Given the description of an element on the screen output the (x, y) to click on. 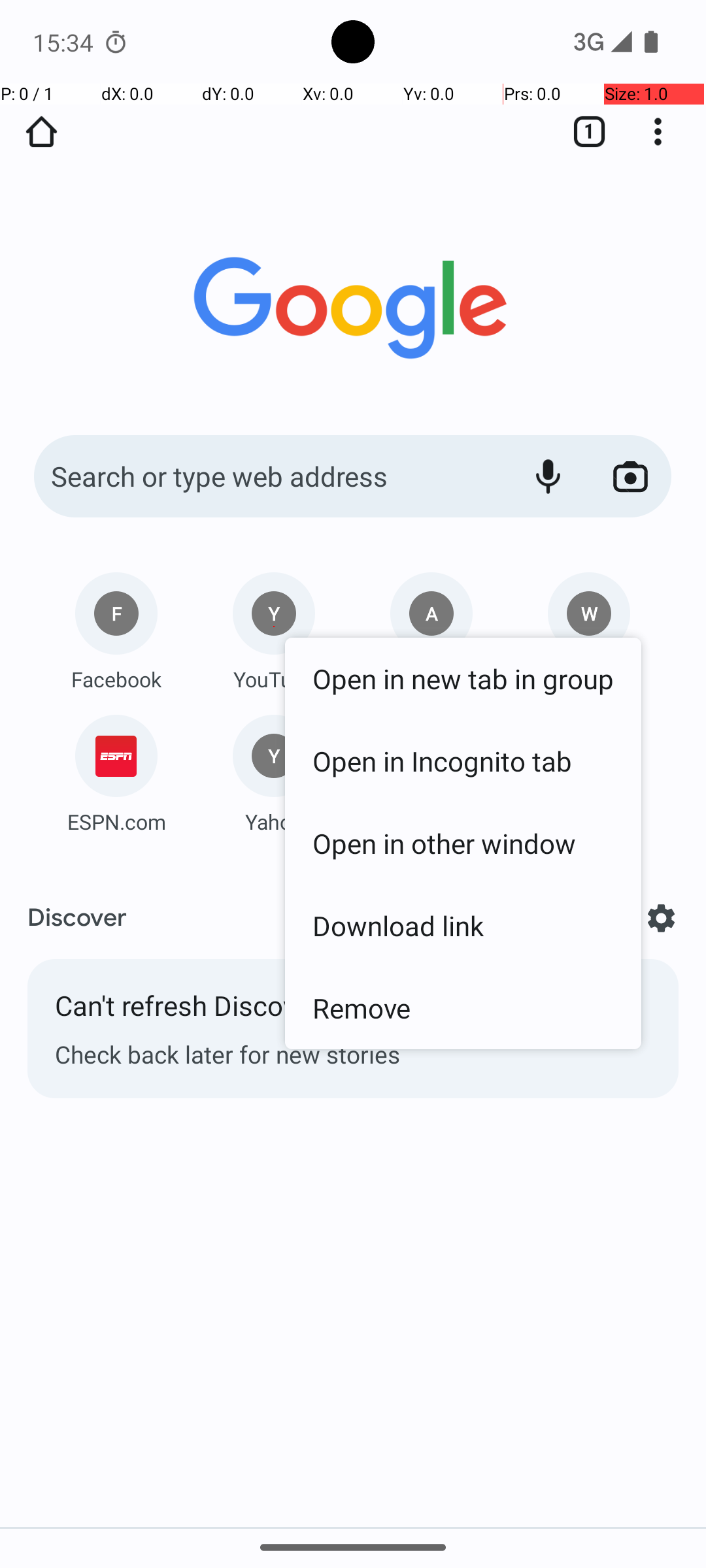
Open in new tab in group Element type: android.widget.TextView (462, 678)
Open in Incognito tab Element type: android.widget.TextView (462, 760)
Open in other window Element type: android.widget.TextView (462, 842)
Download link Element type: android.widget.TextView (462, 925)
Remove Element type: android.widget.TextView (462, 1007)
